Given the description of an element on the screen output the (x, y) to click on. 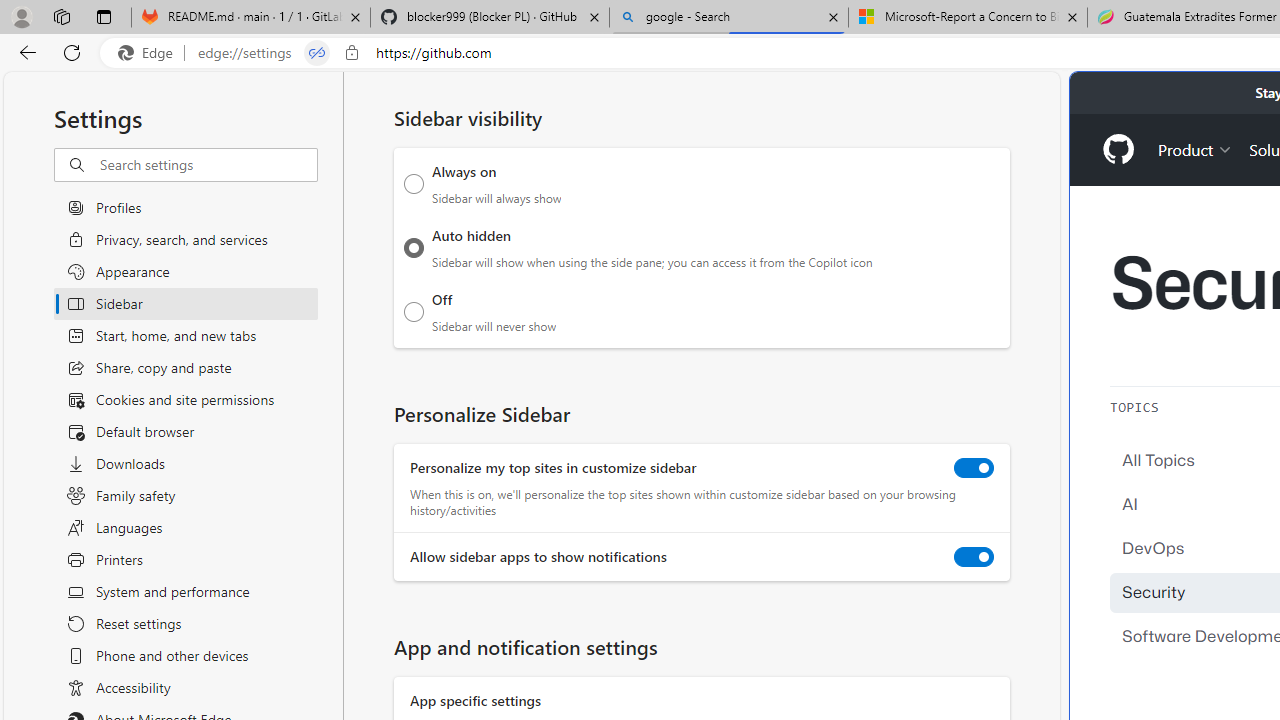
Edge (150, 53)
Off Sidebar will never show (413, 311)
Allow sidebar apps to show notifications (973, 557)
Personalize my top sites in customize sidebar (973, 467)
Search settings (207, 165)
Tabs in split screen (317, 53)
Product (1195, 148)
